Given the description of an element on the screen output the (x, y) to click on. 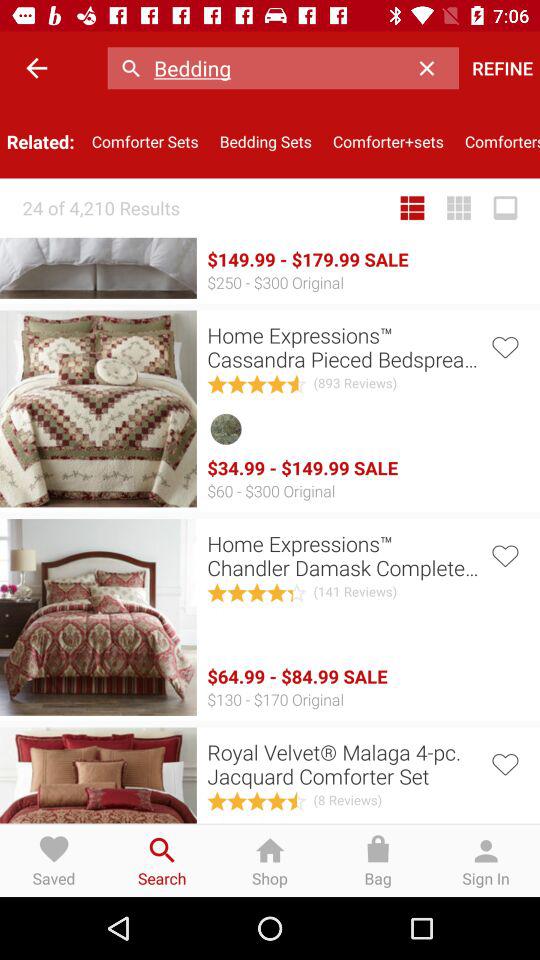
add to wish list (504, 762)
